Given the description of an element on the screen output the (x, y) to click on. 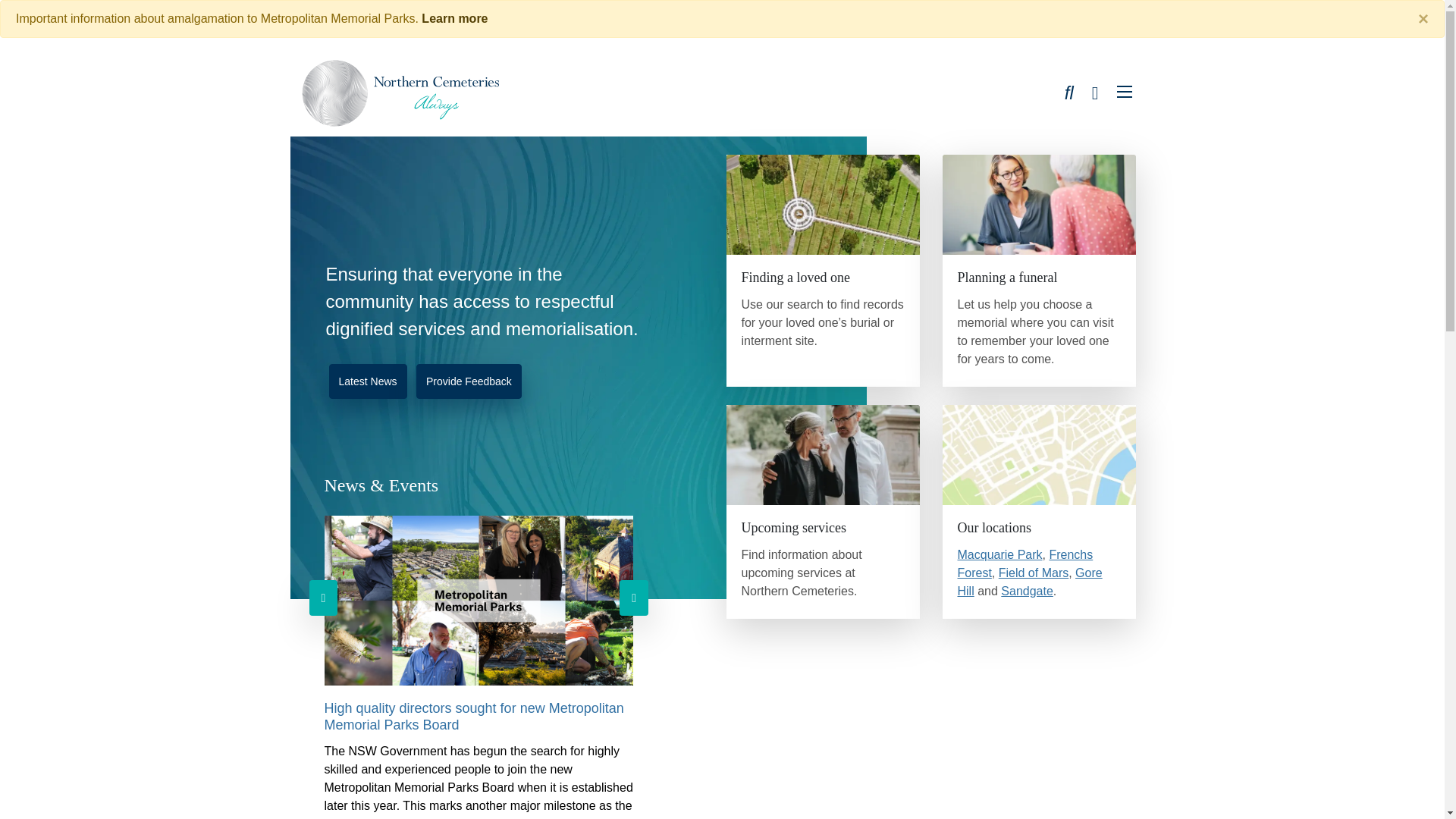
Provide Feedback Element type: text (468, 381)
Previous Element type: text (323, 597)
Sandgate Element type: text (1027, 590)
Field of Mars Element type: text (1033, 572)
Next Element type: text (633, 597)
Macquarie Park Element type: text (999, 554)
Latest News Element type: text (368, 381)
Gore Hill Element type: text (1029, 581)
Learn more Element type: text (454, 18)
Frenchs Forest Element type: text (1024, 563)
